Given the description of an element on the screen output the (x, y) to click on. 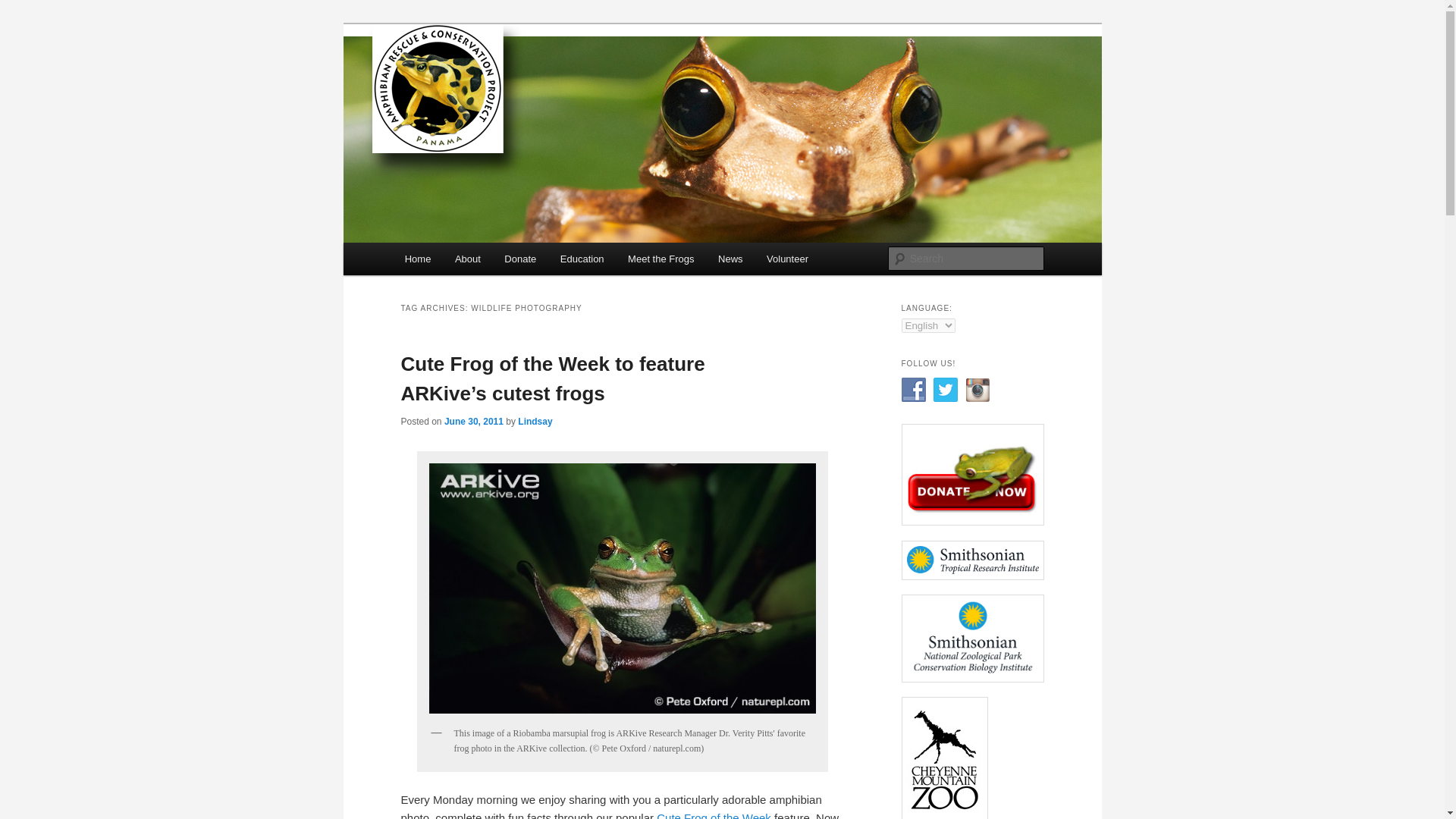
Education (581, 258)
June 30, 2011 (473, 420)
12:08 pm (473, 420)
Donate (520, 258)
Cute Frog of the Week (713, 815)
Meet the Frogs (660, 258)
Follow Us on Twitter (944, 389)
News (730, 258)
Lindsay (534, 420)
